Given the description of an element on the screen output the (x, y) to click on. 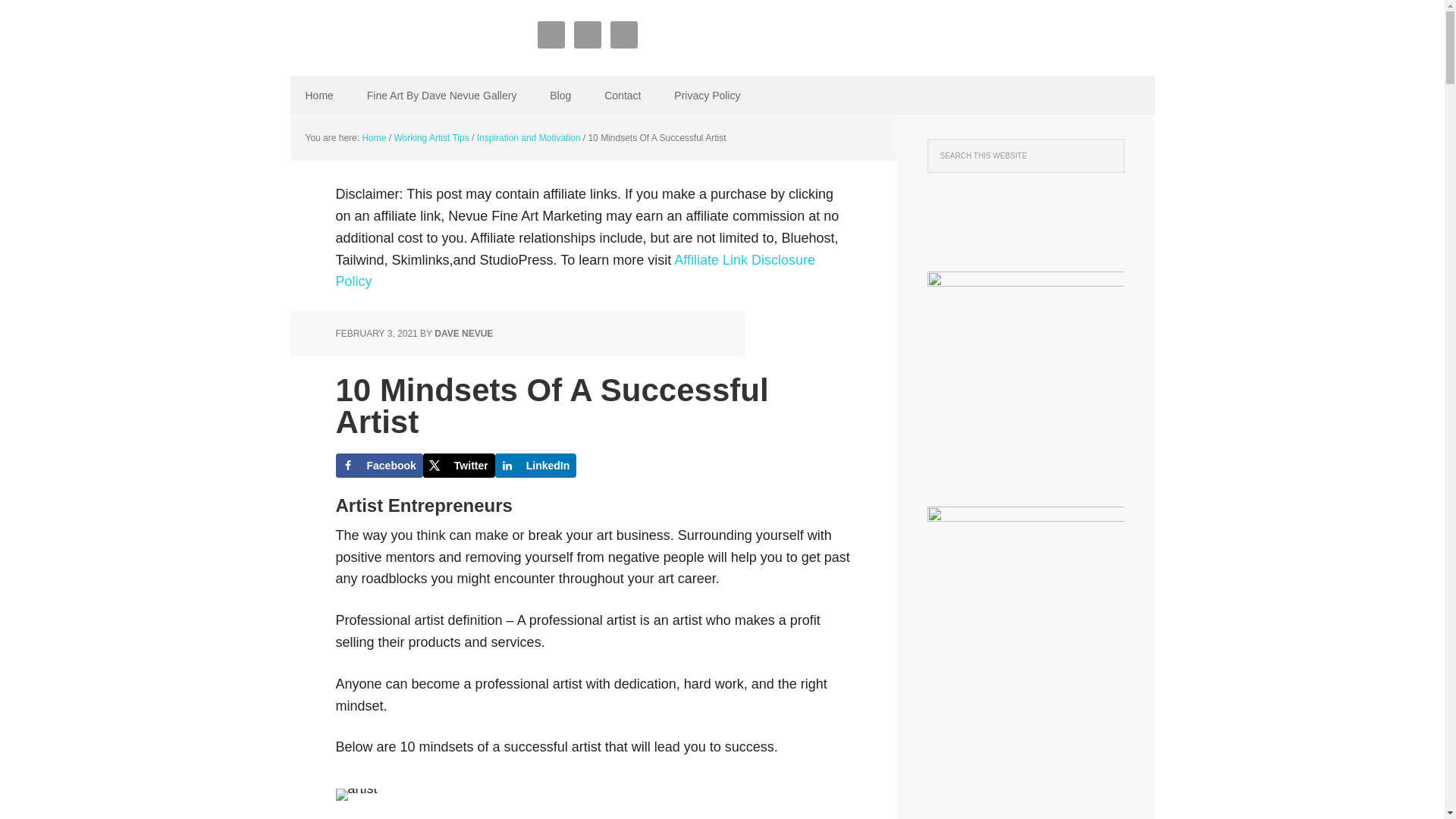
DAVE NEVUE (463, 333)
LinkedIn (535, 465)
Home (318, 96)
Blog (560, 96)
Inspiration and Motivation (528, 137)
Home (373, 137)
Working Artist Tips (431, 137)
Privacy Policy (707, 96)
Share on X (459, 465)
Affiliate Link Disclosure Policy (574, 270)
Facebook (378, 465)
Share on Facebook (378, 465)
Twitter (459, 465)
Fine Art By Dave Nevue Gallery (442, 96)
